Given the description of an element on the screen output the (x, y) to click on. 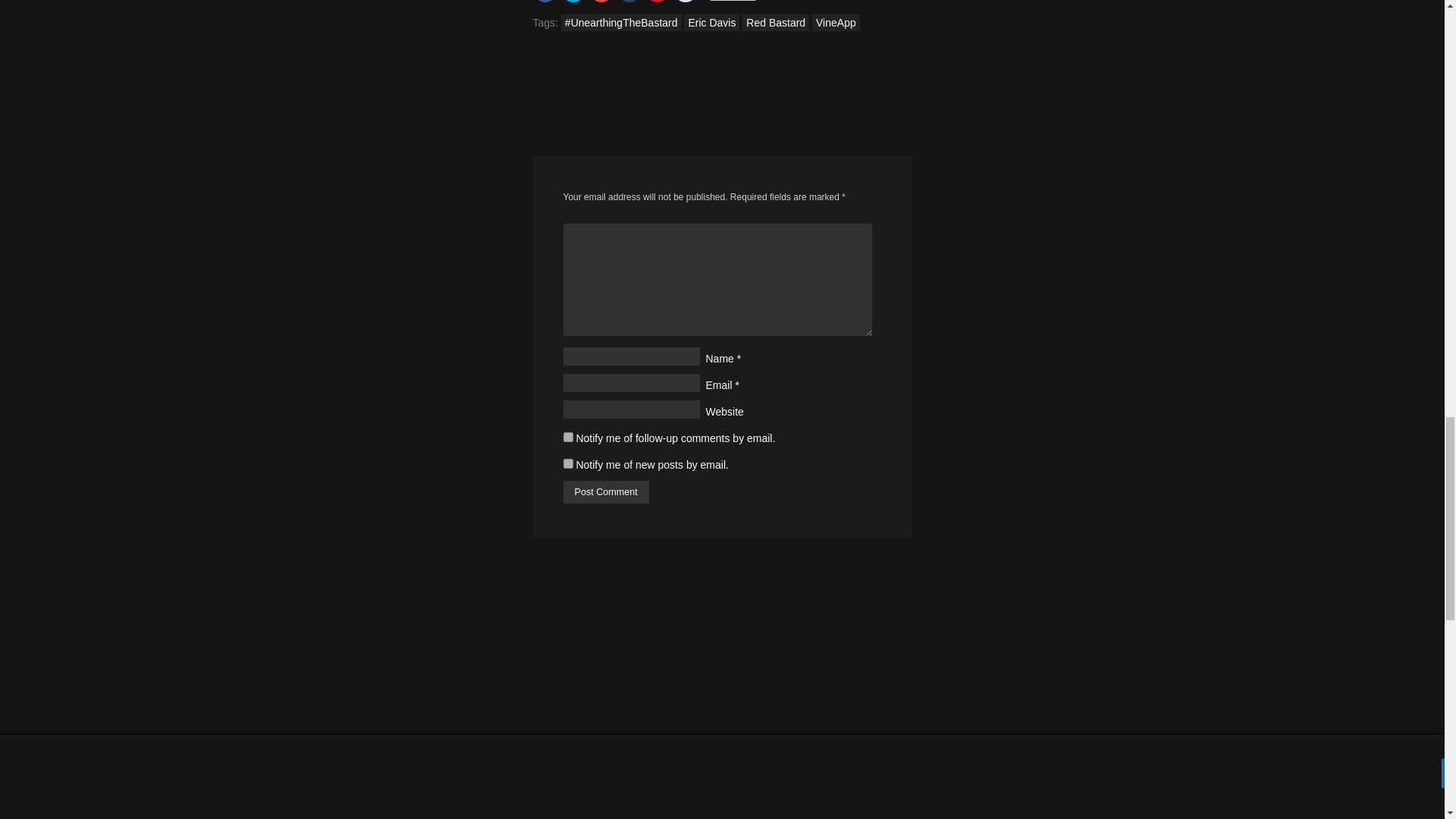
subscribe (567, 437)
Click to share on Pinterest (656, 1)
Click to share on Reddit (684, 1)
Click to share on Tumblr (629, 1)
subscribe (567, 463)
Post Comment (604, 491)
Click to share on Facebook (544, 1)
Click to share on Twitter (572, 1)
